Given the description of an element on the screen output the (x, y) to click on. 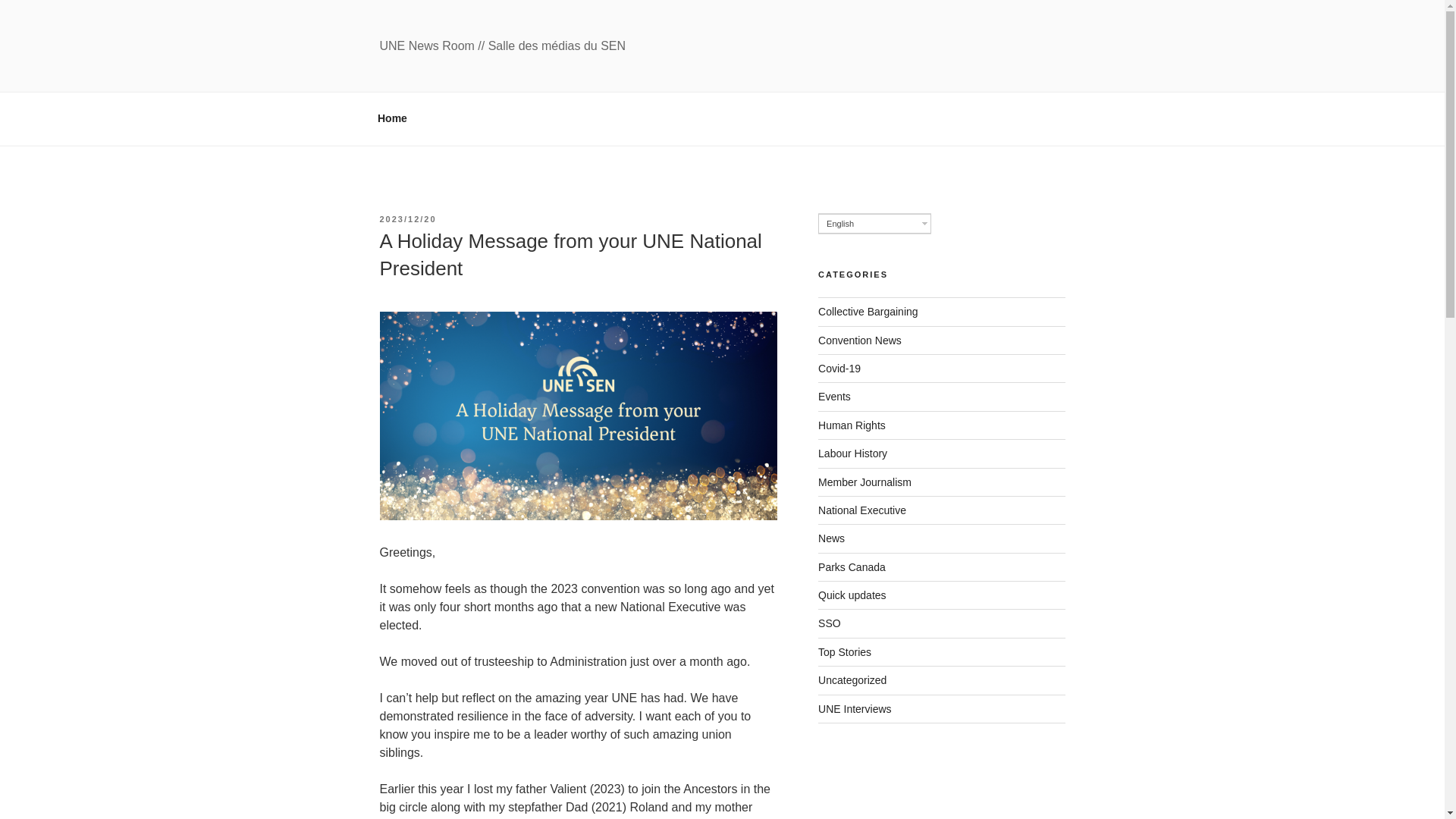
Uncategorized (852, 680)
Top Stories (844, 652)
UNE Interviews (854, 708)
Labour History (852, 453)
Quick updates (852, 594)
SSO (829, 623)
Member Journalism (864, 481)
Human Rights (851, 425)
Home (392, 118)
English (874, 223)
National Executive (861, 510)
Collective Bargaining (868, 311)
Parks Canada (851, 567)
News (831, 538)
